Given the description of an element on the screen output the (x, y) to click on. 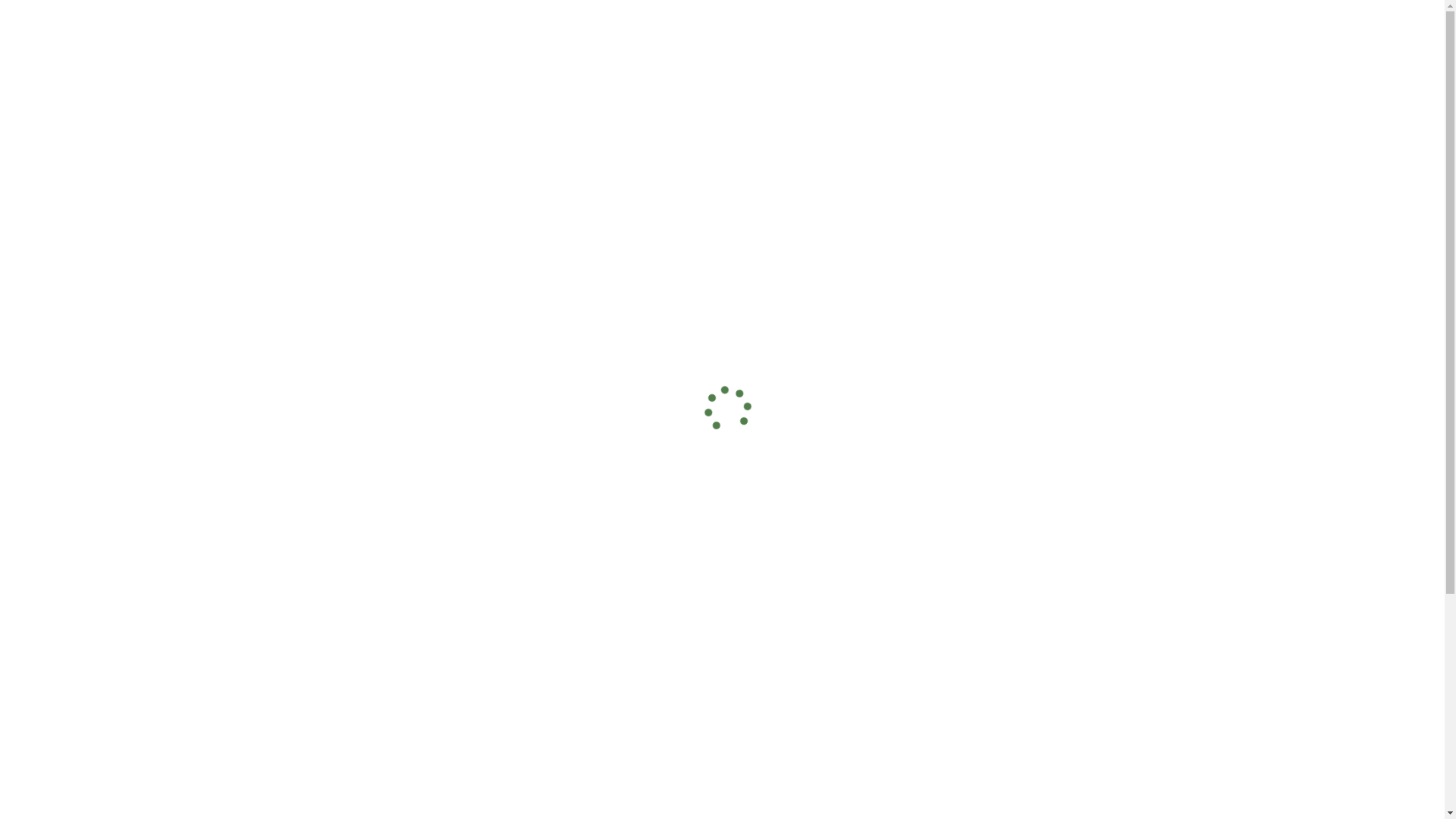
AITC Prince Edward Island Resources Site Element type: hover (423, 15)
